Given the description of an element on the screen output the (x, y) to click on. 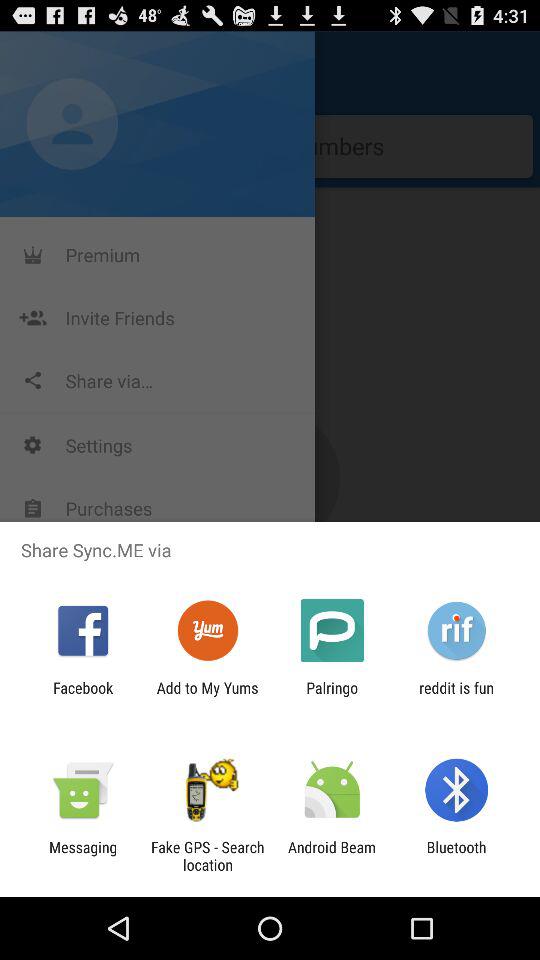
scroll to facebook (83, 696)
